Given the description of an element on the screen output the (x, y) to click on. 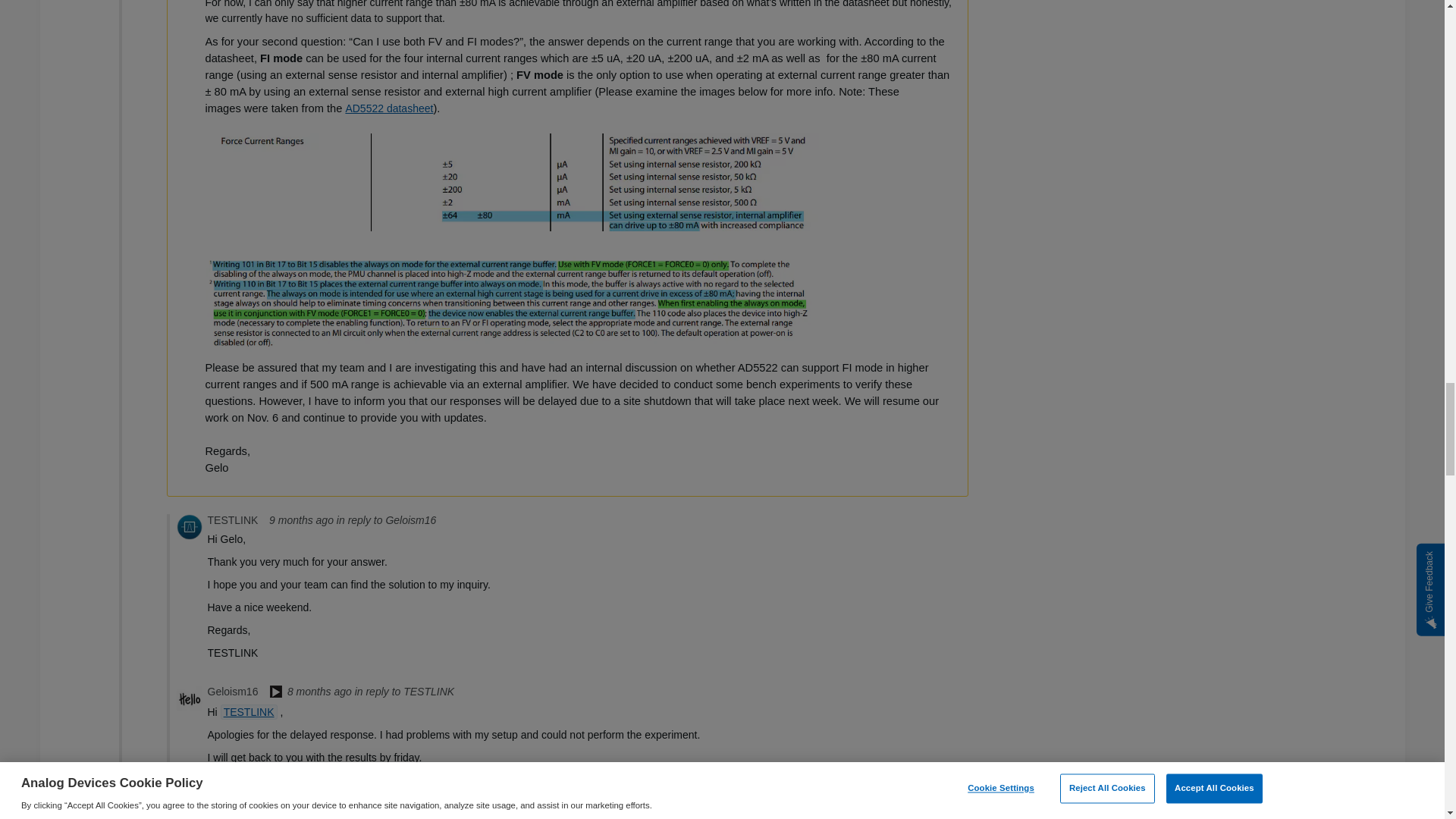
Analog Employees (275, 693)
